Given the description of an element on the screen output the (x, y) to click on. 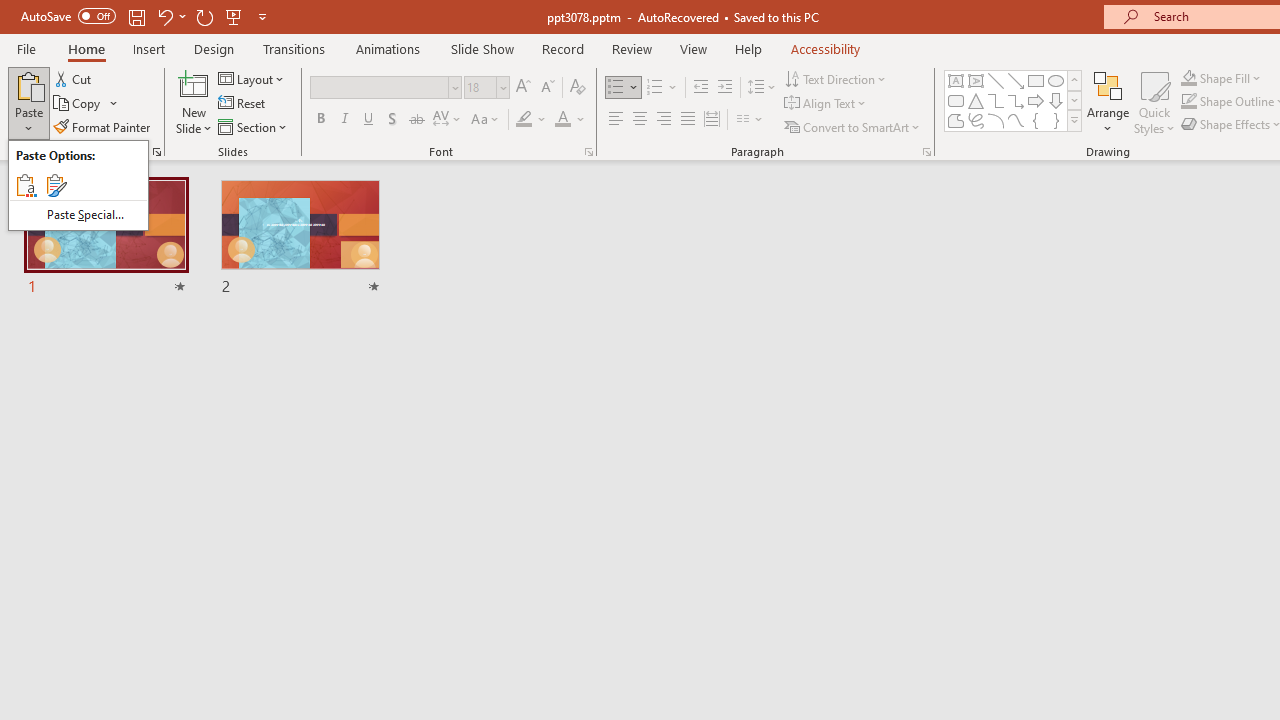
Class: NetUIImage (1075, 120)
Paste (28, 84)
Section (254, 126)
Shape Fill (1221, 78)
Vertical Text Box (975, 80)
Text Highlight Color Yellow (524, 119)
Copy (85, 103)
Oval (1055, 80)
Shapes (1074, 120)
Rectangle (1035, 80)
Decrease Indent (700, 87)
Row up (1074, 79)
